Given the description of an element on the screen output the (x, y) to click on. 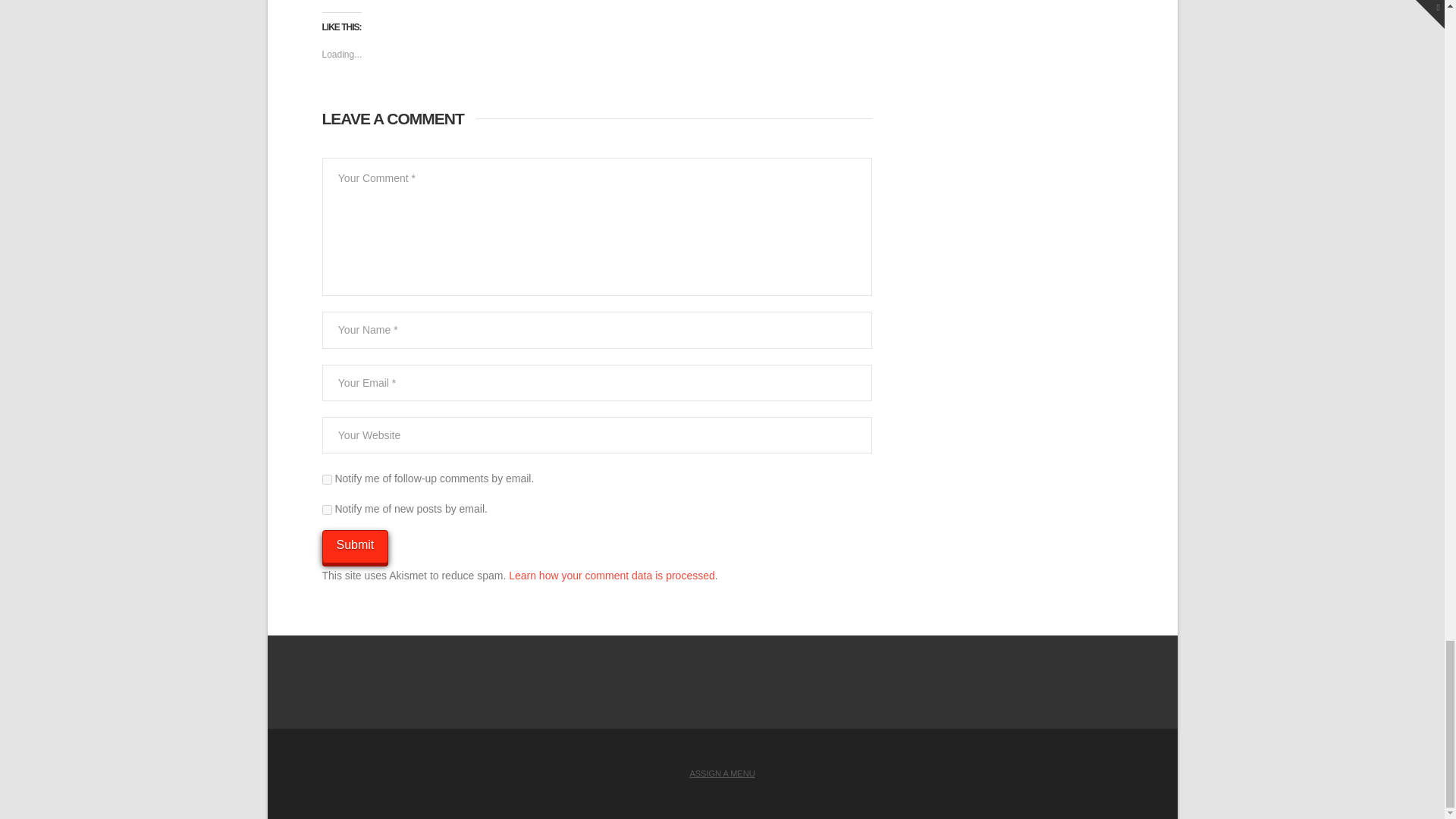
subscribe (326, 479)
subscribe (326, 510)
Submit (354, 546)
